Given the description of an element on the screen output the (x, y) to click on. 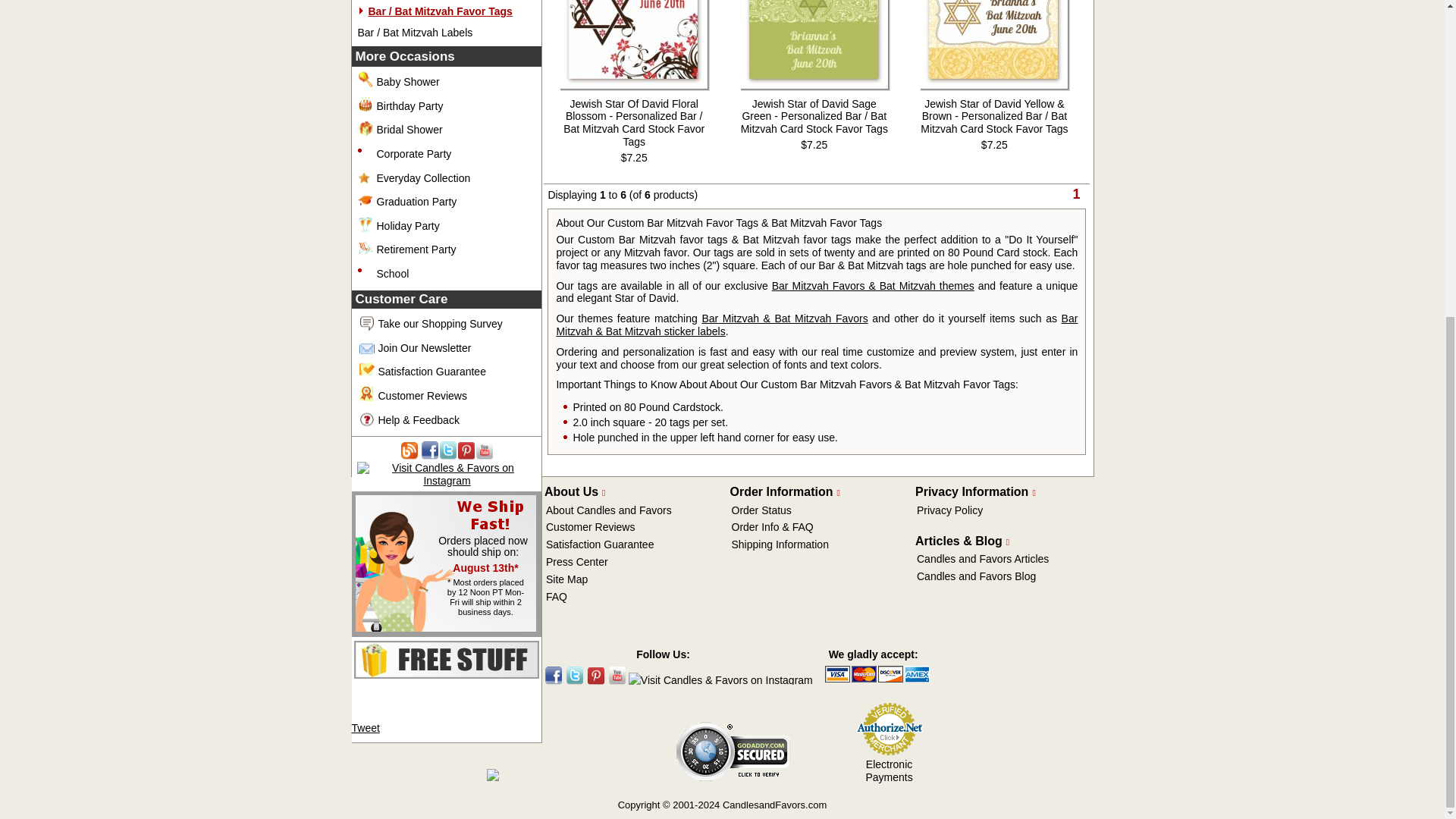
Take our Shopping Survey (439, 323)
Baby Shower (407, 81)
Bridal Shower (408, 129)
Retirement Party (415, 249)
School (392, 273)
Everyday Collection (422, 177)
Holiday Party (407, 225)
Corporate Party (413, 153)
Birthday Party (408, 105)
Graduation Party (416, 201)
